Given the description of an element on the screen output the (x, y) to click on. 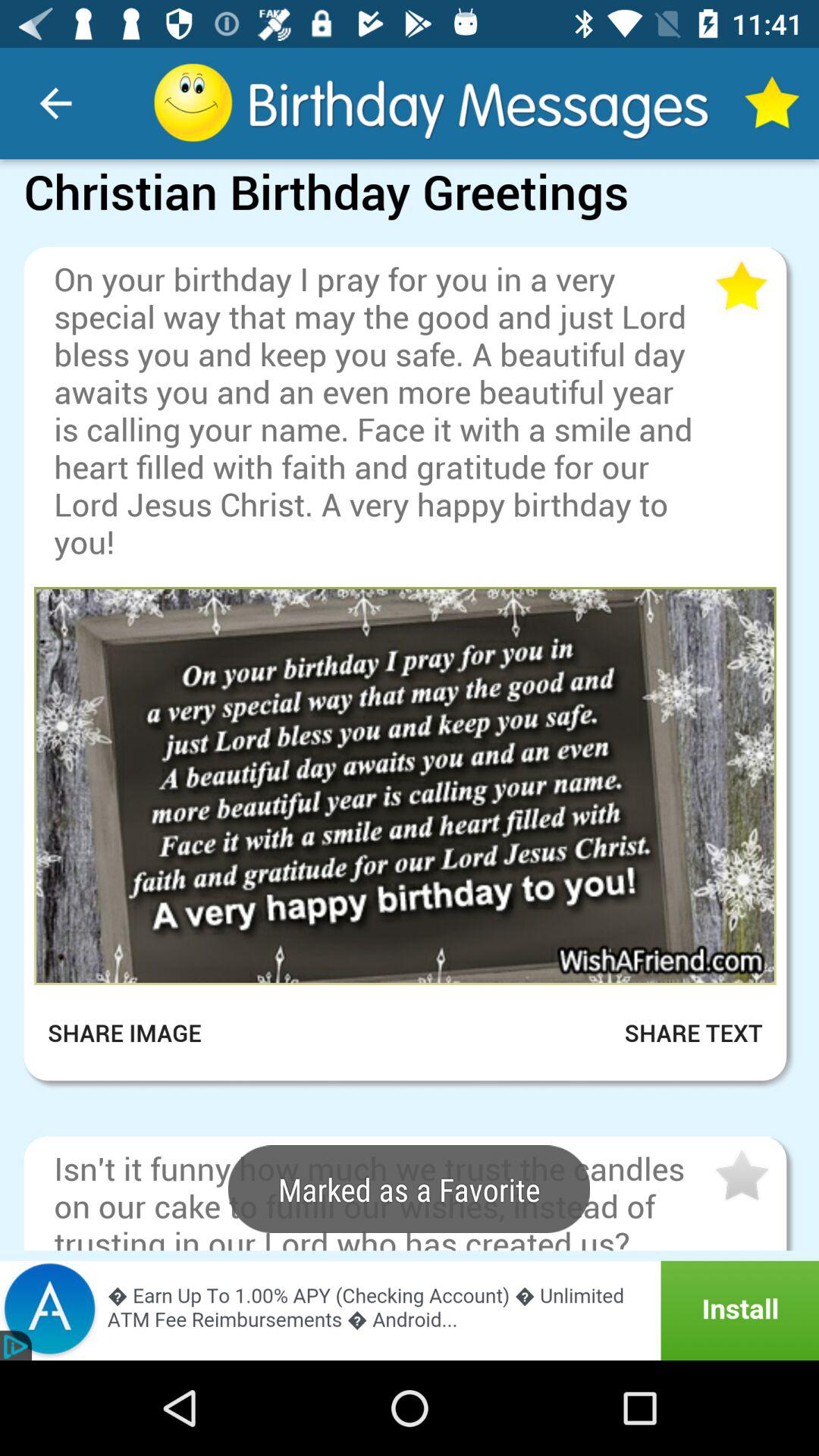
open image in larger view (405, 785)
